Given the description of an element on the screen output the (x, y) to click on. 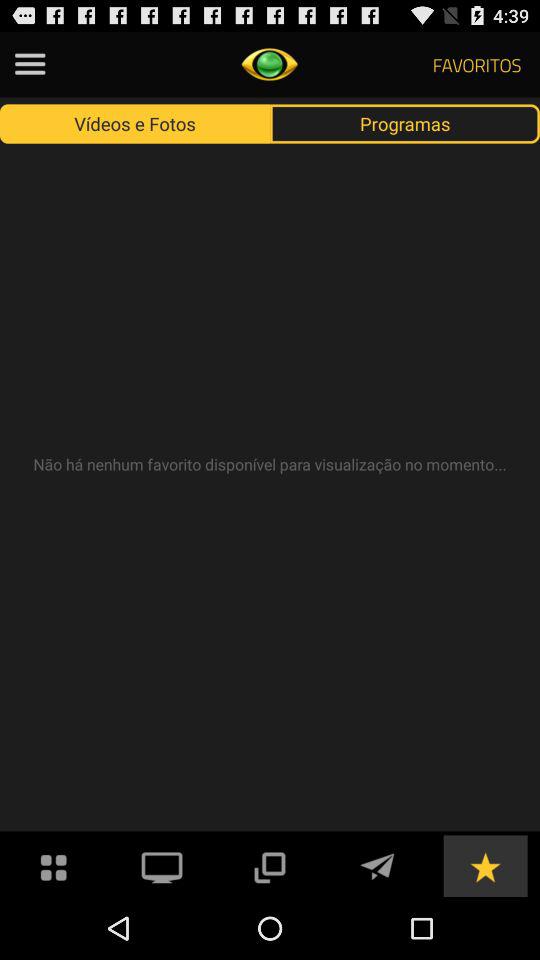
click programas button (405, 123)
